Given the description of an element on the screen output the (x, y) to click on. 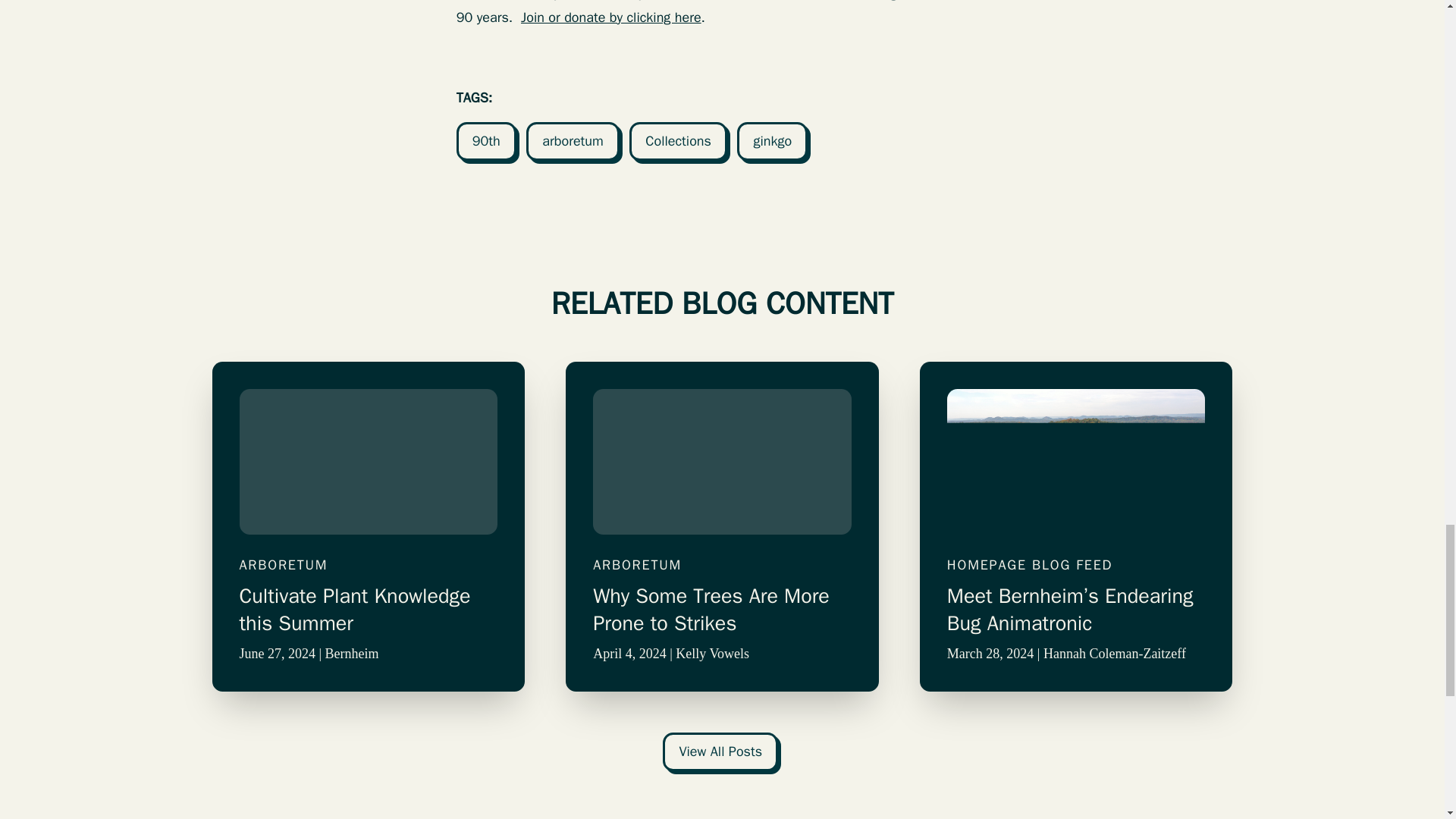
ginkgo (772, 140)
ARBORETUM (721, 565)
Bernheim (351, 653)
Collections (677, 140)
ARBORETUM (368, 565)
Join or donate by clicking here (611, 17)
Why Some Trees Are More Prone to Strikes (721, 609)
arboretum (572, 140)
90th (486, 140)
Cultivate Plant Knowledge this Summer (368, 609)
